Given the description of an element on the screen output the (x, y) to click on. 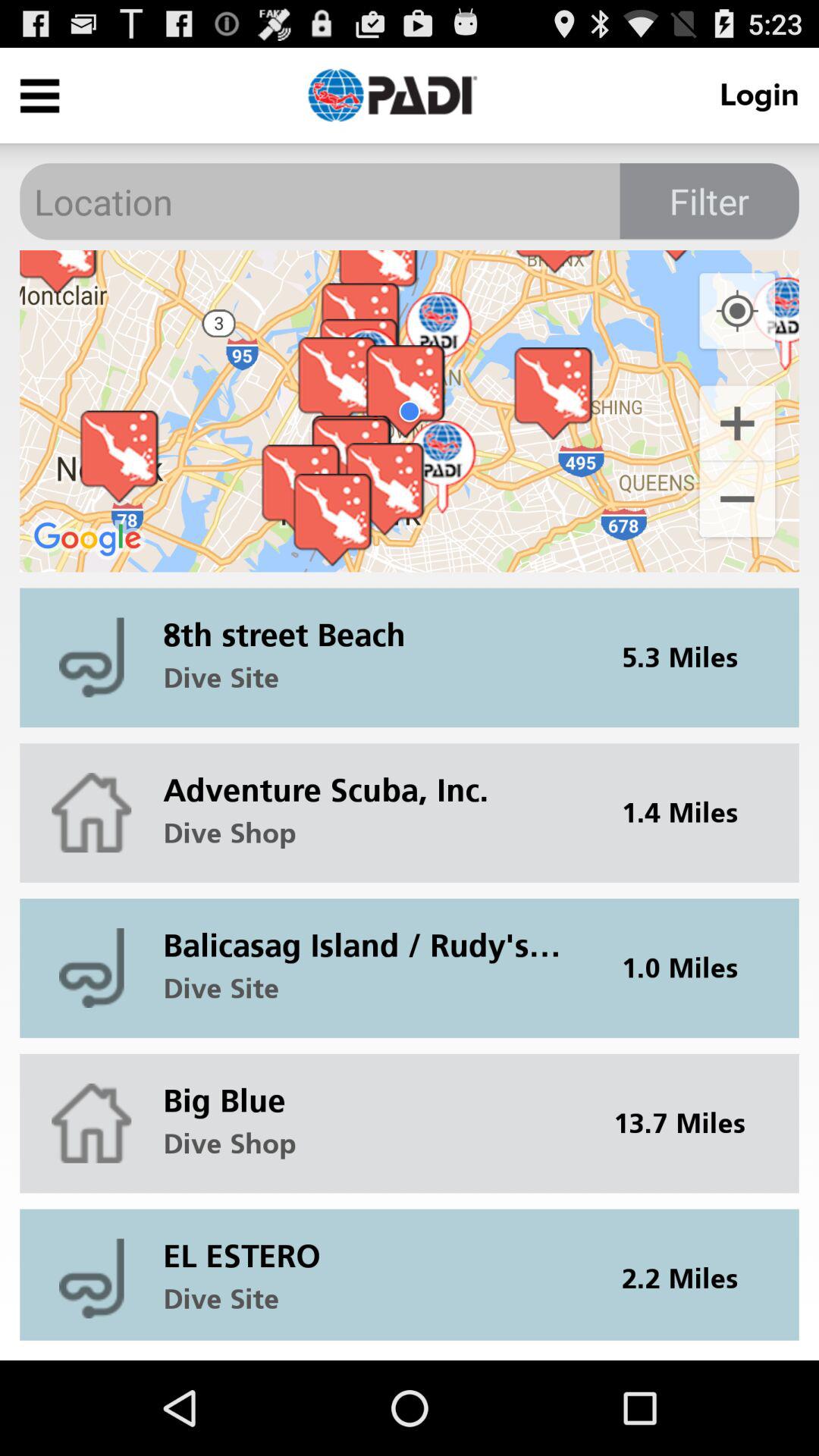
flip to the 2.2 miles item (689, 1274)
